Given the description of an element on the screen output the (x, y) to click on. 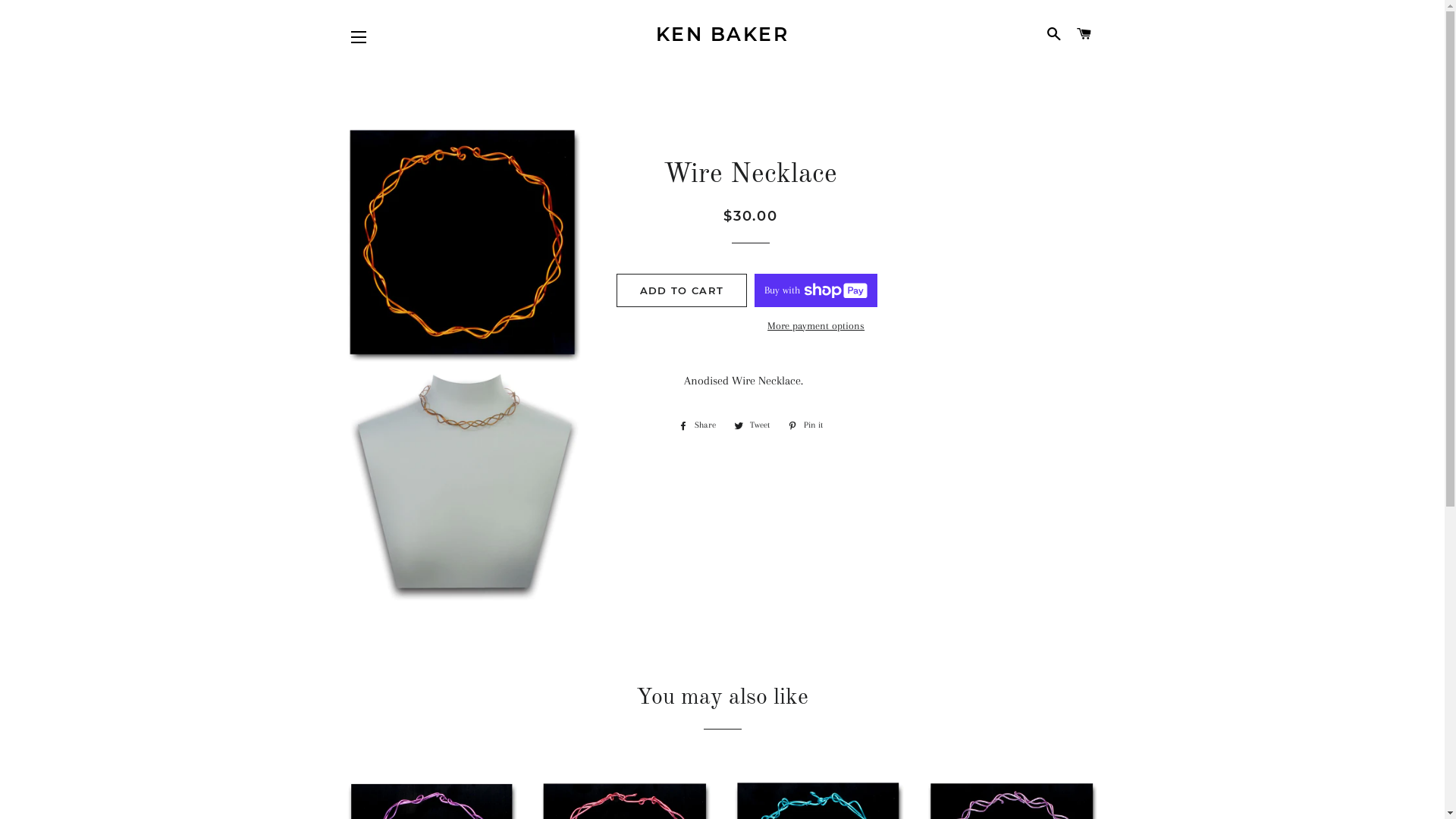
ADD TO CART Element type: text (681, 290)
Pin it
Pin on Pinterest Element type: text (805, 425)
CART Element type: text (1083, 33)
Tweet
Tweet on Twitter Element type: text (751, 425)
SEARCH Element type: text (1054, 33)
More payment options Element type: text (815, 325)
SITE NAVIGATION Element type: text (358, 37)
Share
Share on Facebook Element type: text (697, 425)
KEN BAKER Element type: text (721, 34)
